Given the description of an element on the screen output the (x, y) to click on. 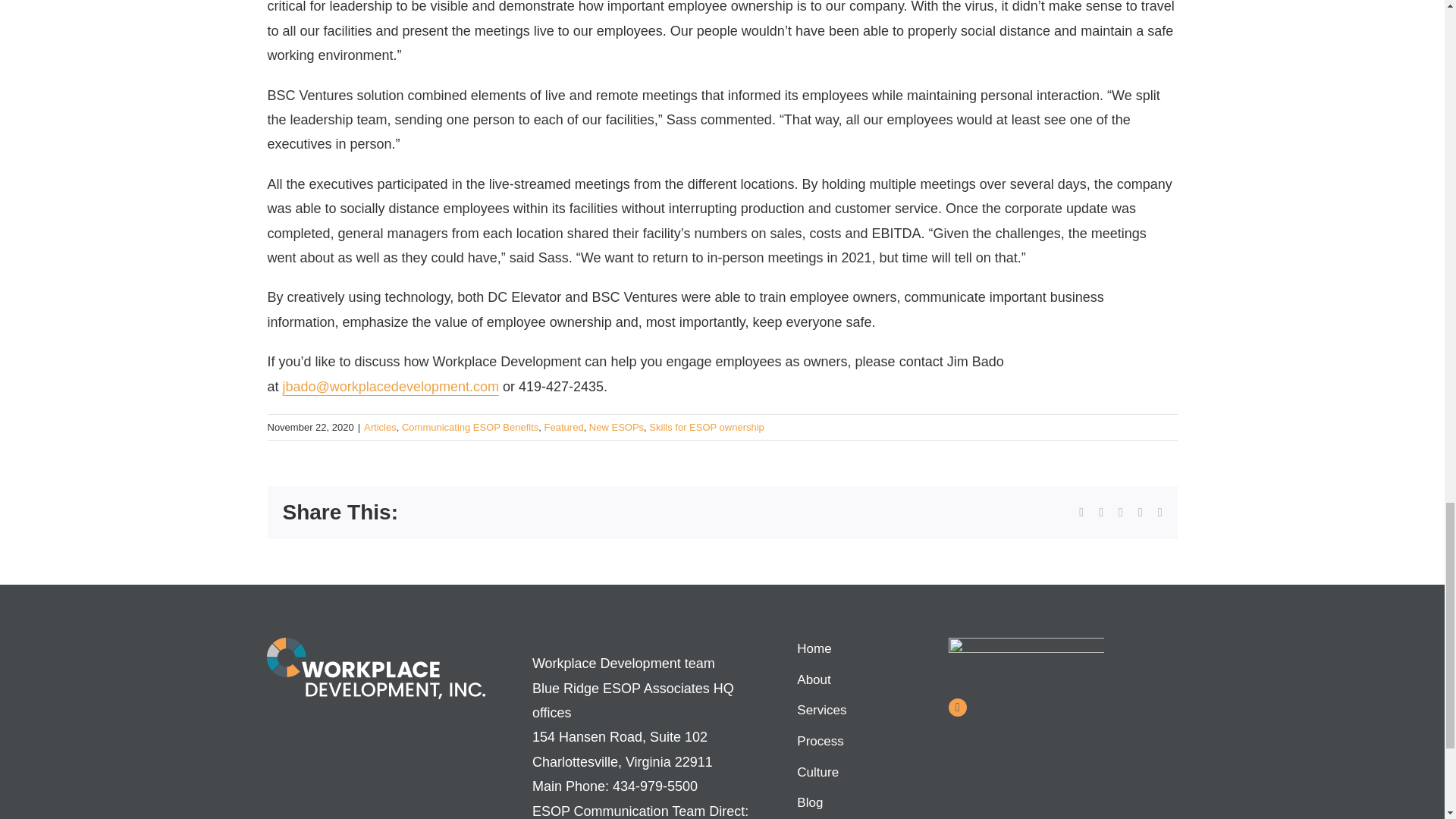
Articles (380, 427)
New ESOPs (616, 427)
About (854, 680)
LinkedIn (957, 707)
Featured (563, 427)
Home (854, 649)
Communicating ESOP Benefits (469, 427)
Skills for ESOP ownership (706, 427)
Services (854, 710)
